Given the description of an element on the screen output the (x, y) to click on. 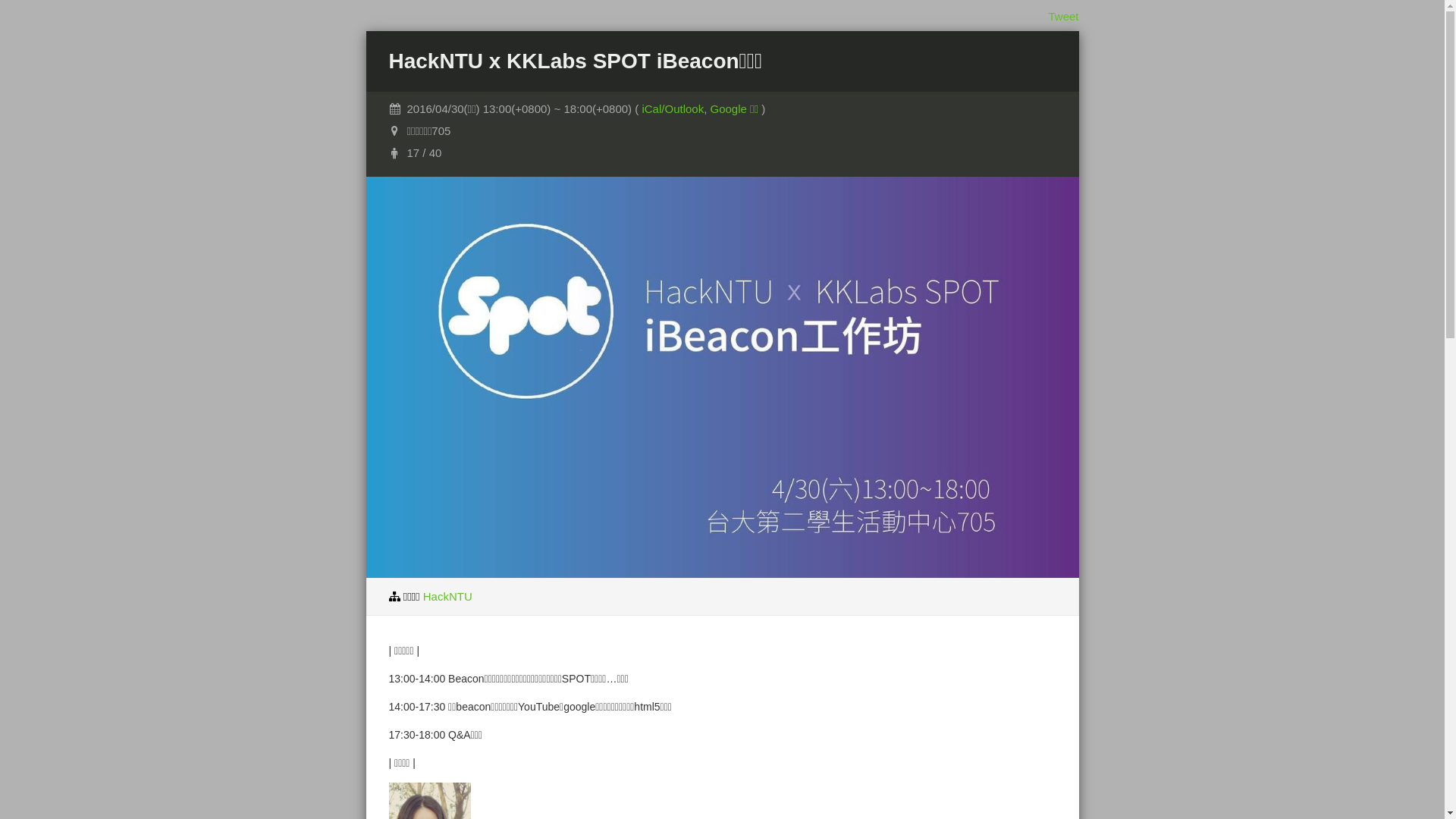
HackNTU Element type: text (447, 595)
Tweet Element type: text (1063, 15)
iCal/Outlook Element type: text (672, 108)
